Given the description of an element on the screen output the (x, y) to click on. 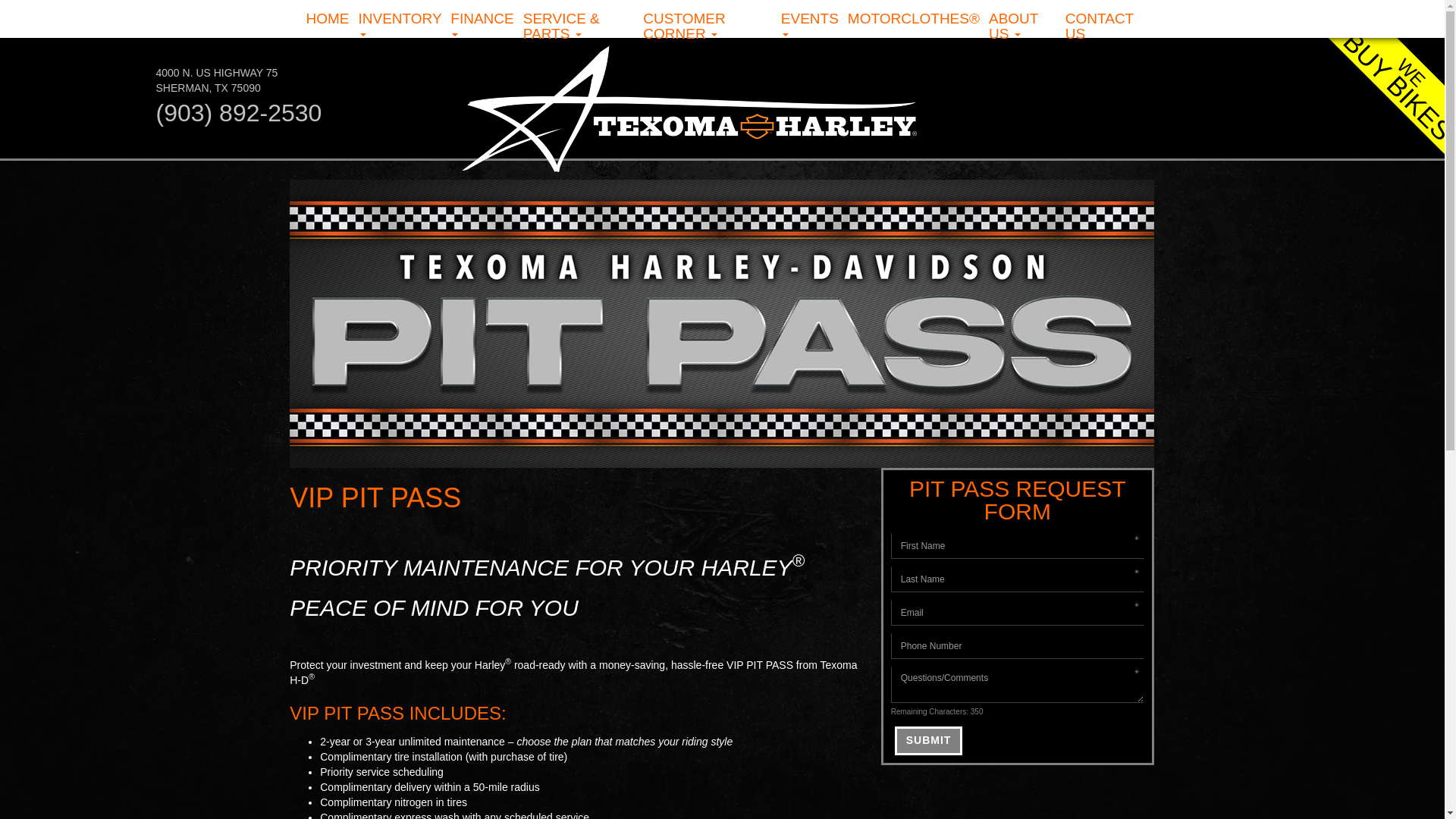
EVENTS (809, 26)
Inventory (399, 26)
INVENTORY (399, 26)
FINANCE (481, 26)
CUSTOMER CORNER (707, 26)
Financing (481, 26)
Home (216, 80)
HOME (327, 18)
